Given the description of an element on the screen output the (x, y) to click on. 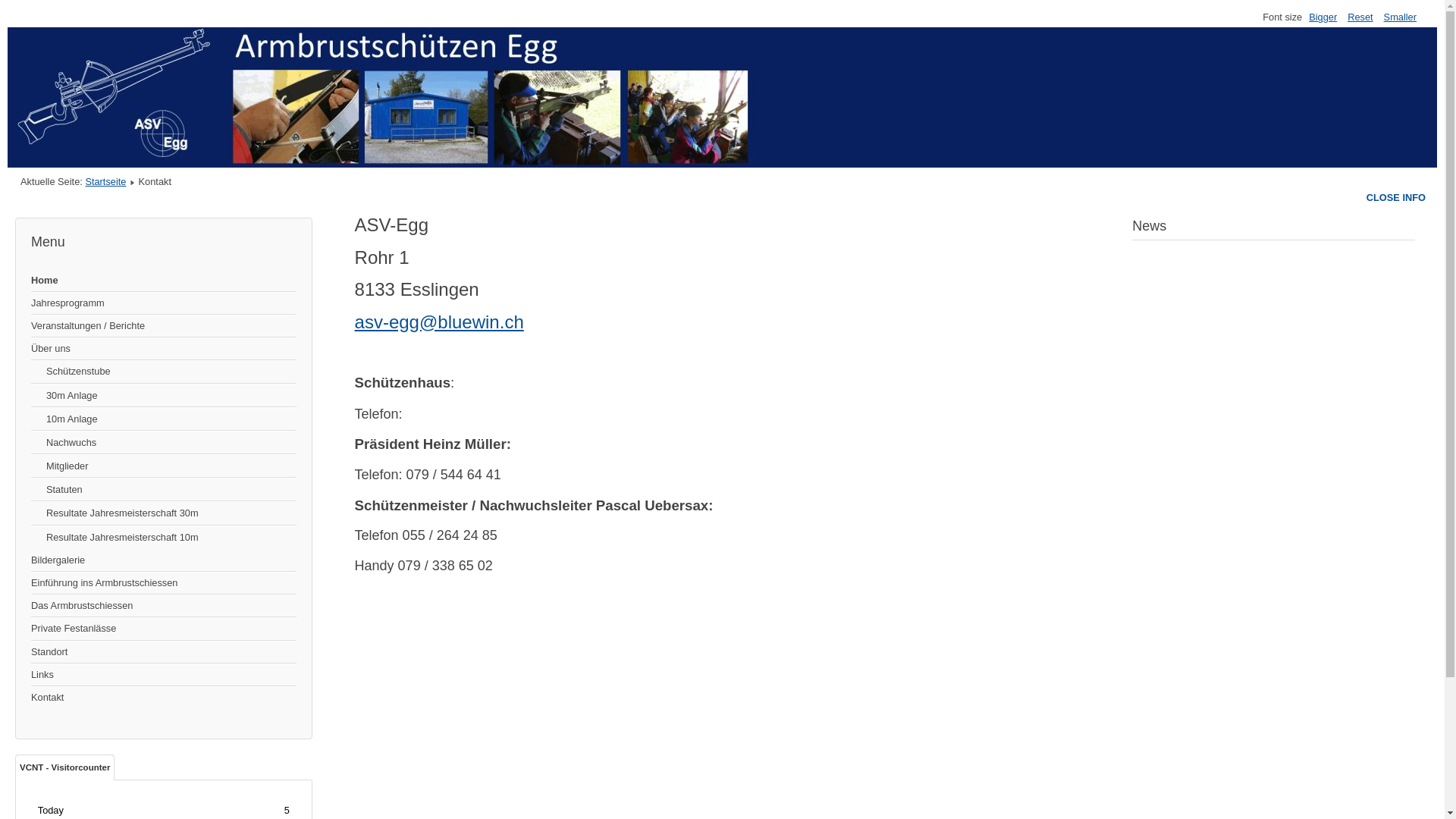
Resultate Jahresmeisterschaft 30m Element type: text (163, 513)
Bildergalerie Element type: text (163, 560)
Mitglieder Element type: text (163, 466)
Nachwuchs Element type: text (163, 442)
30m Anlage Element type: text (163, 395)
Das Armbrustschiessen Element type: text (163, 605)
Reset Element type: text (1359, 16)
Standort Element type: text (163, 651)
Veranstaltungen / Berichte Element type: text (163, 325)
asv-egg@bluewin.ch Element type: text (439, 321)
Jahresprogramm Element type: text (163, 302)
VCNT - Visitorcounter Element type: text (64, 767)
Bigger Element type: text (1322, 16)
Kontakt Element type: text (163, 697)
Startseite Element type: text (104, 181)
Resultate Jahresmeisterschaft 10m Element type: text (163, 537)
Links Element type: text (163, 674)
10m Anlage Element type: text (163, 418)
Home Element type: text (163, 280)
Statuten Element type: text (163, 489)
Smaller Element type: text (1400, 16)
